Given the description of an element on the screen output the (x, y) to click on. 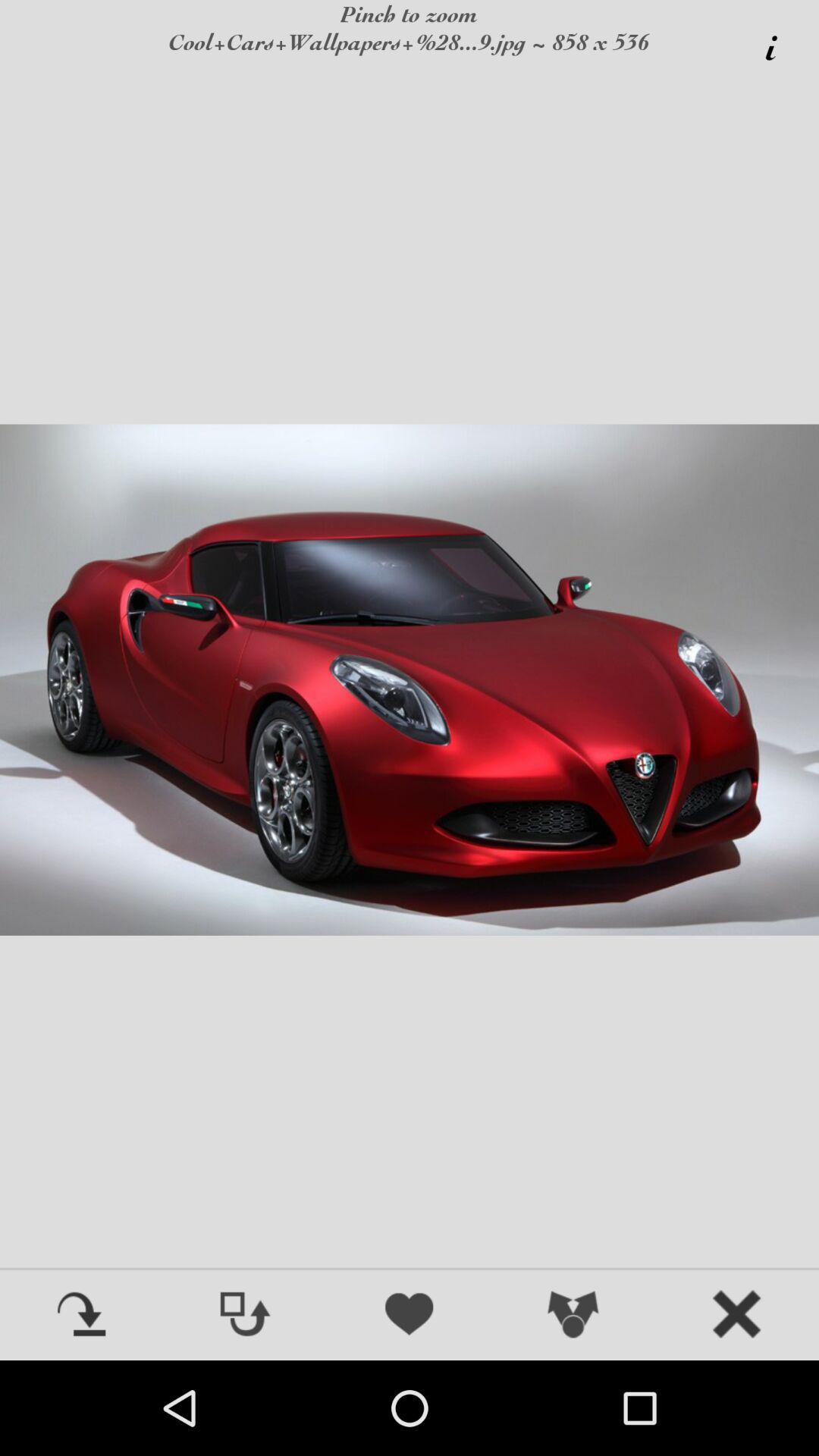
download photo (81, 1315)
